Given the description of an element on the screen output the (x, y) to click on. 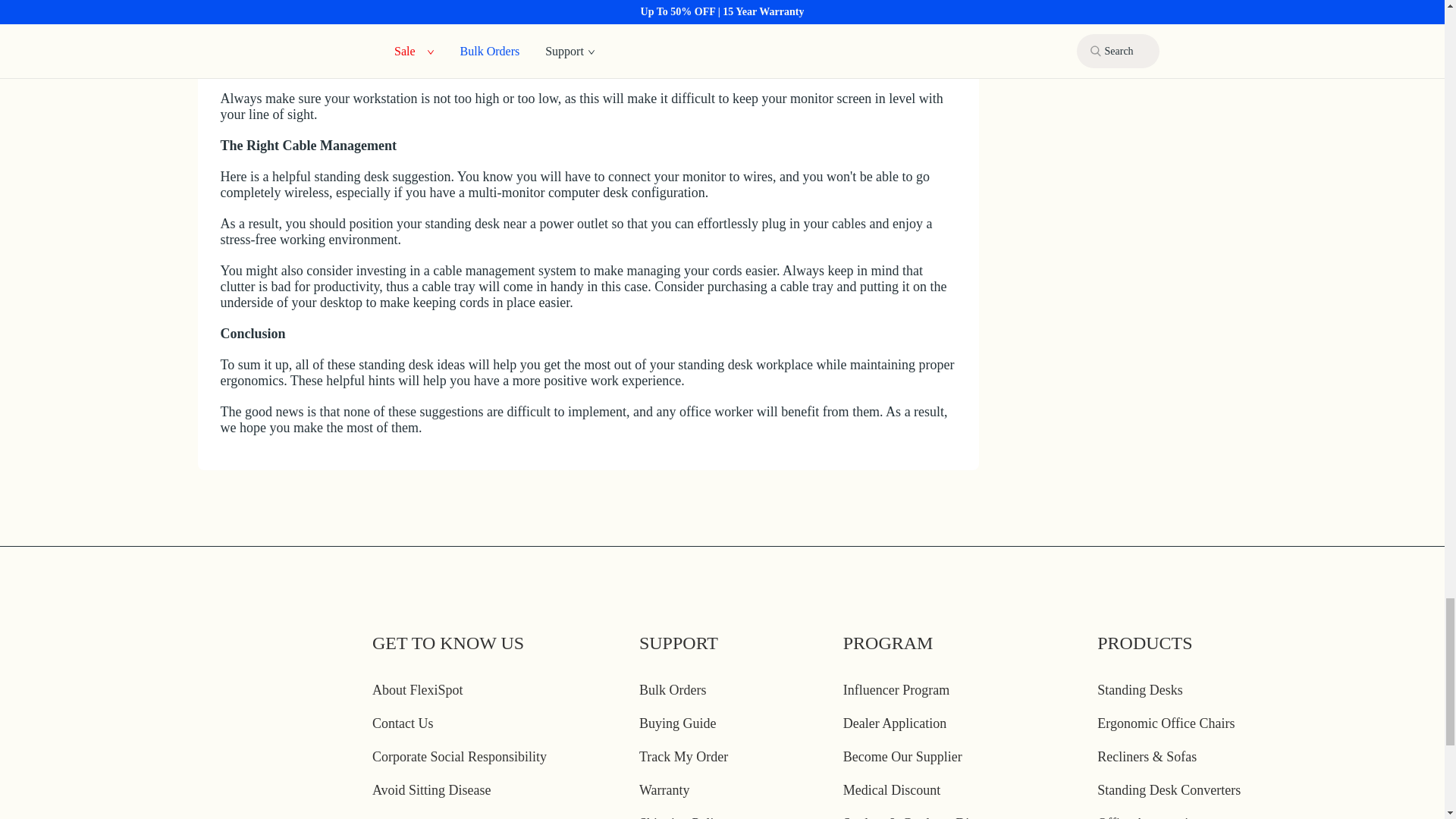
About FlexiSpot (417, 689)
Avoid Sitting Disease (432, 789)
Become Our Supplier (902, 756)
Contact Us (402, 723)
Medical Discount (891, 789)
Track My Order (683, 756)
Influencer Program (896, 689)
Bulk Orders (672, 689)
Dealer Application (894, 723)
Shipping Policy (682, 817)
Corporate Social Responsibility (459, 756)
Buying Guide (677, 723)
Warranty (664, 789)
